Given the description of an element on the screen output the (x, y) to click on. 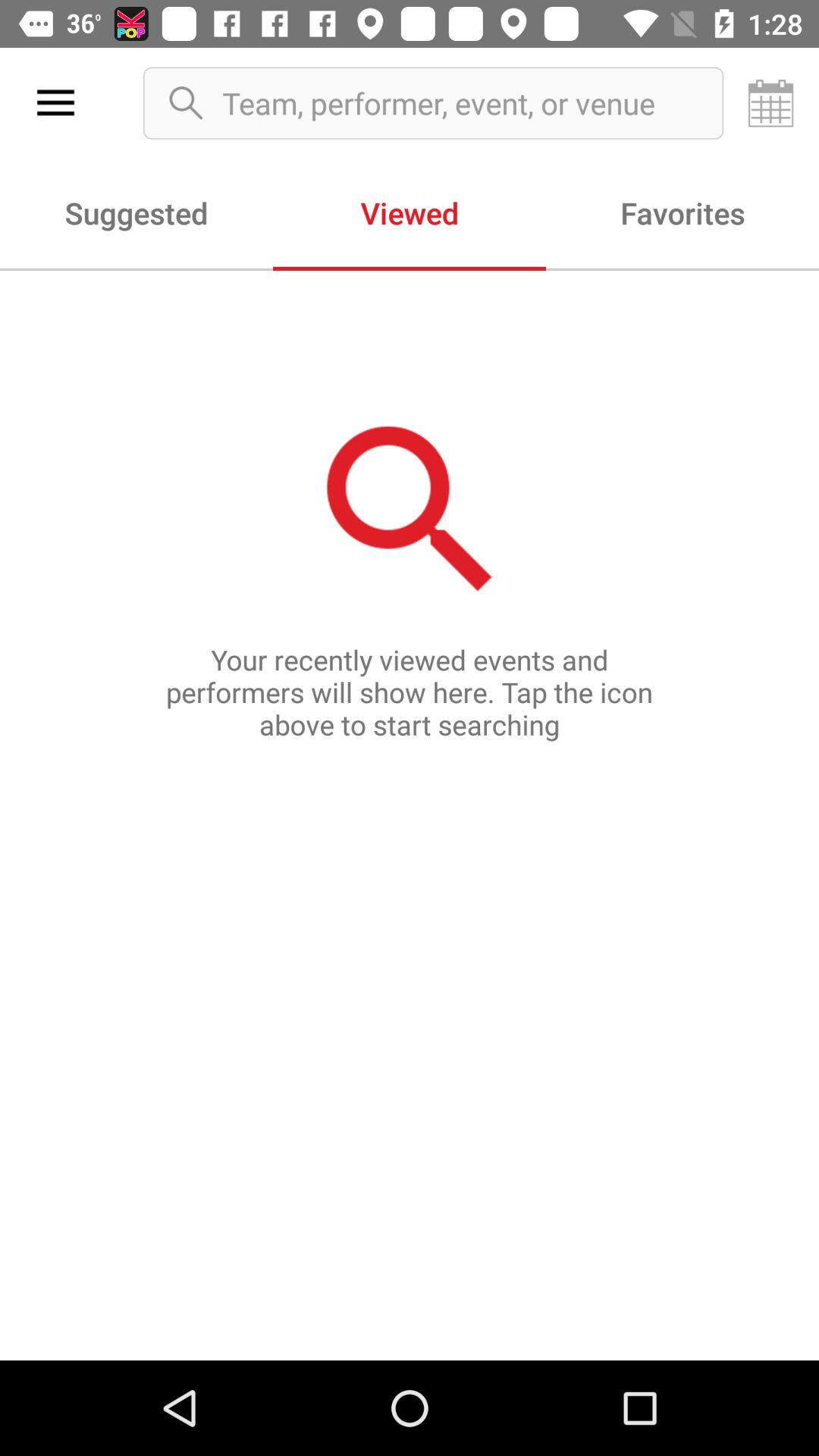
choose favorites icon (682, 212)
